Given the description of an element on the screen output the (x, y) to click on. 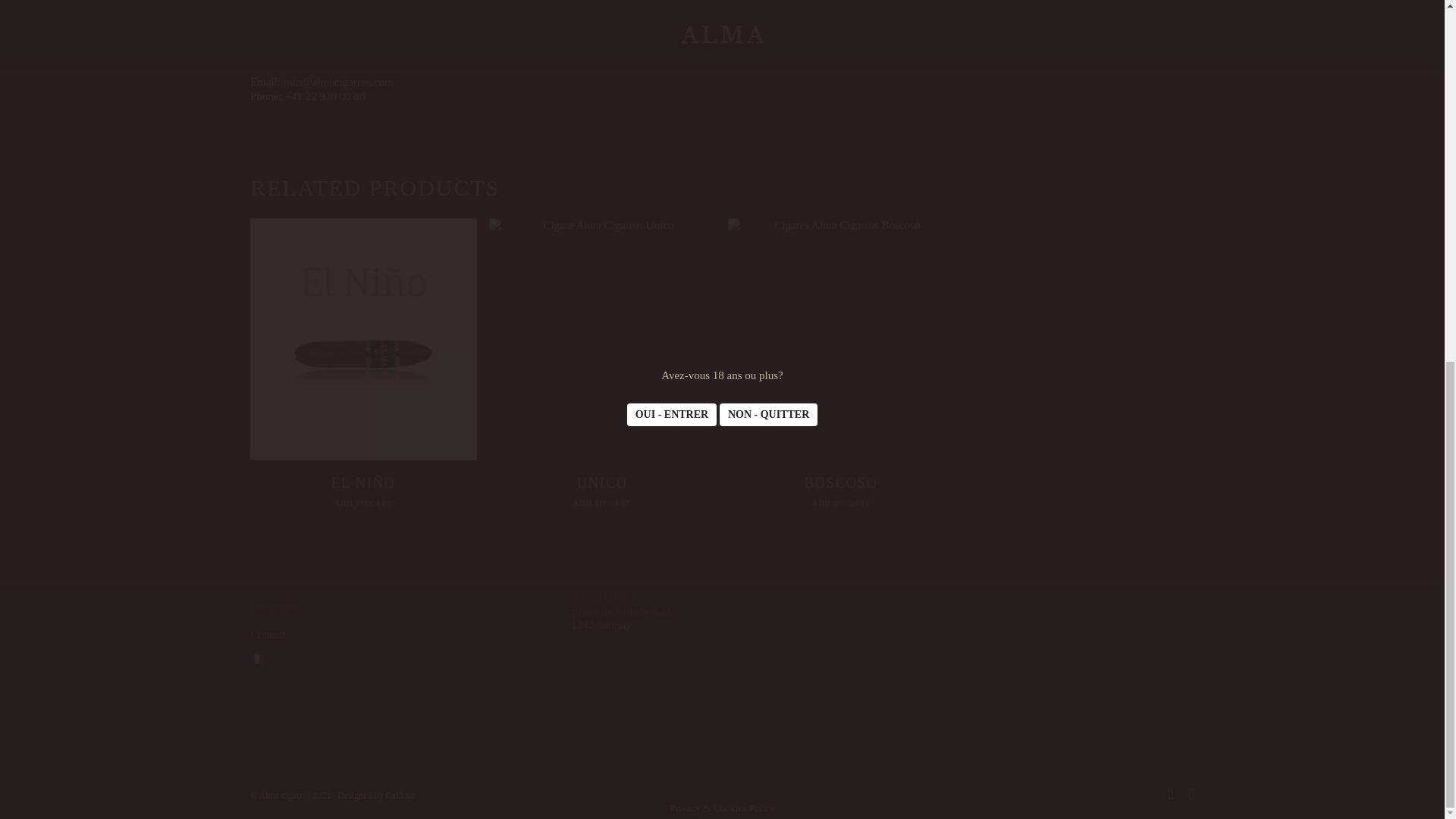
ADD TO CART (363, 502)
ADD TO CART (841, 502)
UNICO (602, 486)
ADD TO CART (602, 502)
BOSCOSO (841, 486)
